Given the description of an element on the screen output the (x, y) to click on. 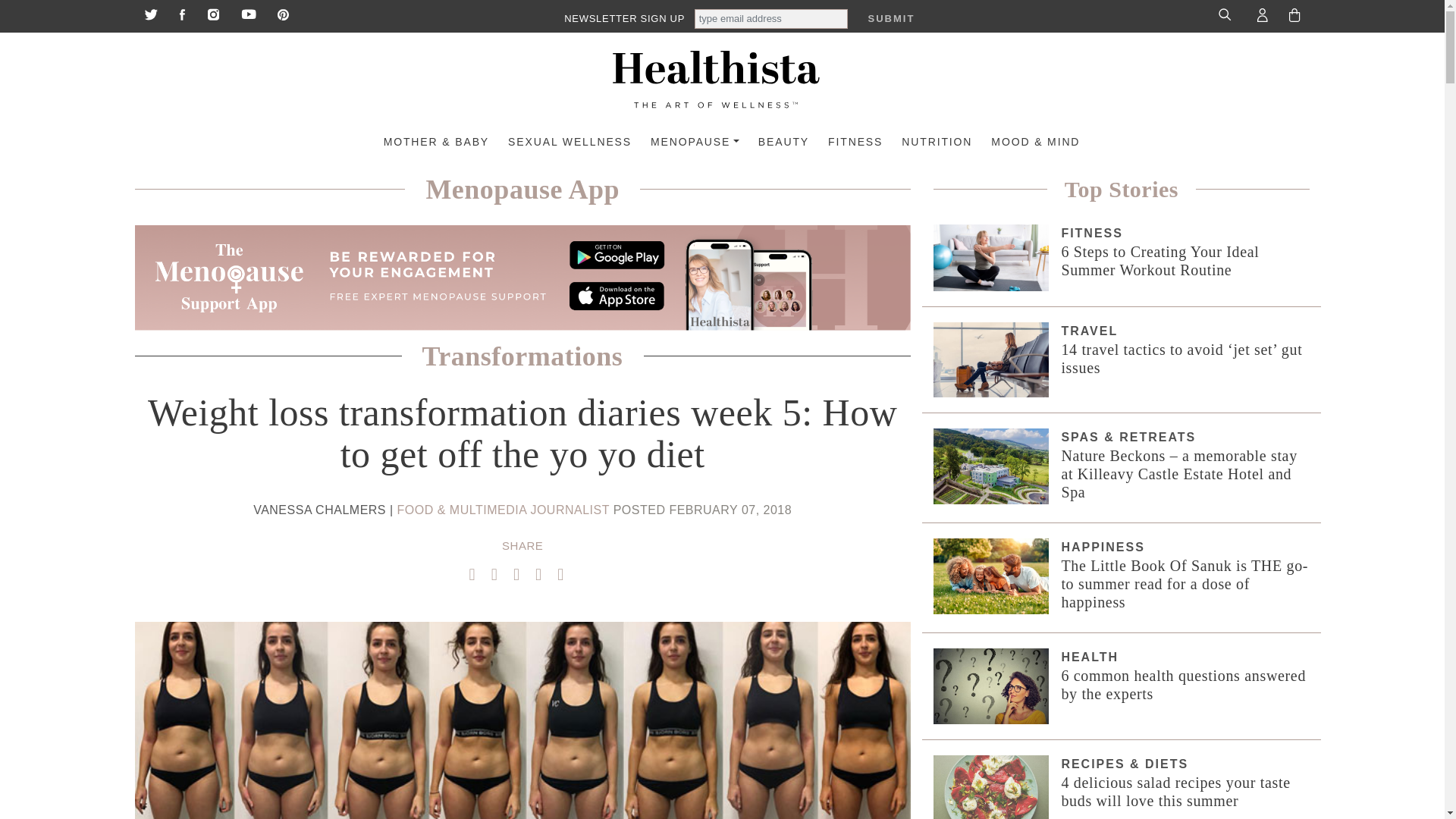
Sexual Wellness (560, 142)
SEXUAL WELLNESS (560, 142)
BEAUTY (774, 142)
NUTRITION (927, 142)
Youtube (248, 12)
SUBMIT (890, 18)
SUBMIT (890, 18)
Twitter (150, 12)
Transformations (522, 356)
FITNESS (845, 142)
MENOPAUSE (685, 142)
Search (1226, 13)
